Given the description of an element on the screen output the (x, y) to click on. 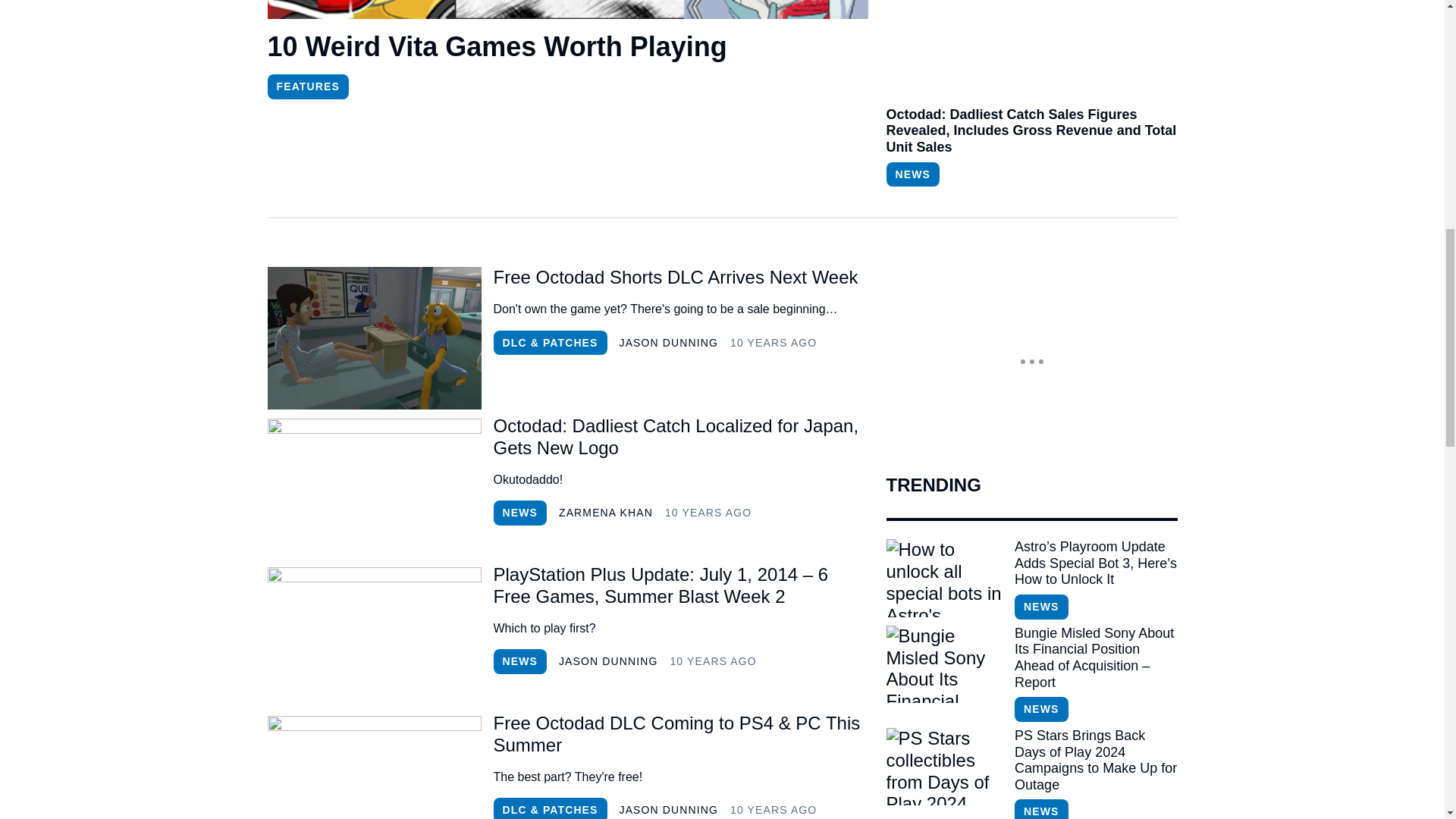
NEWS (912, 174)
JASON DUNNING (608, 661)
ZARMENA KHAN (605, 512)
Free Octodad Shorts DLC Arrives Next Week (680, 277)
Free Octodad Shorts DLC Arrives Next Week (680, 277)
10 Weird Vita Games Worth Playing (566, 46)
JASON DUNNING (668, 342)
FEATURES (306, 86)
NEWS (519, 661)
Octodad: Dadliest Catch Localized for Japan, Gets New Logo (373, 486)
10 Weird Vita Games Worth Playing (566, 49)
Octodad: Dadliest Catch Localized for Japan, Gets New Logo (680, 437)
Octodad: Dadliest Catch Localized for Japan, Gets New Logo (680, 437)
